Given the description of an element on the screen output the (x, y) to click on. 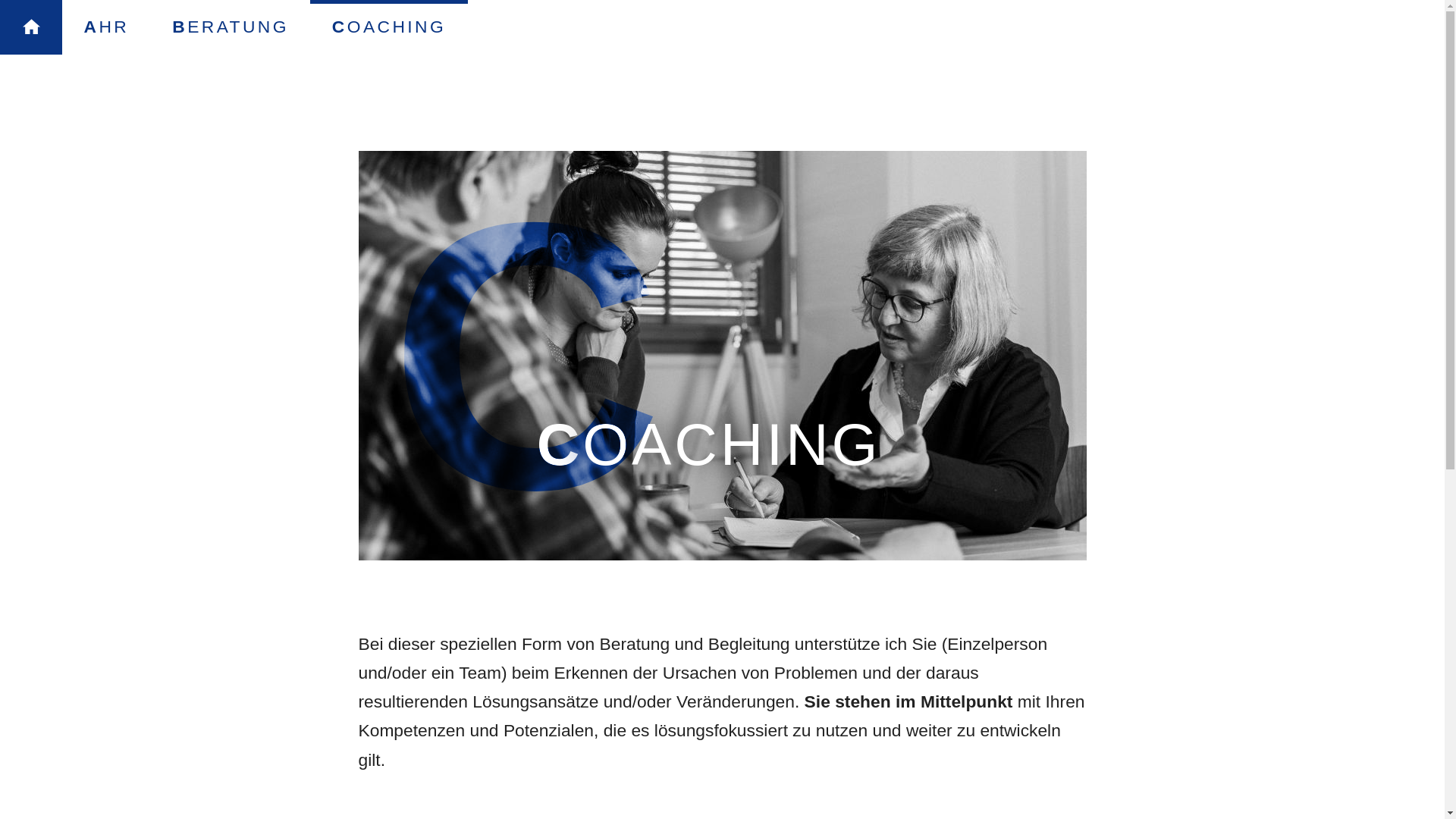
AHR Element type: text (106, 27)
BERATUNG Element type: text (230, 27)
COACHING Element type: text (388, 27)
